Given the description of an element on the screen output the (x, y) to click on. 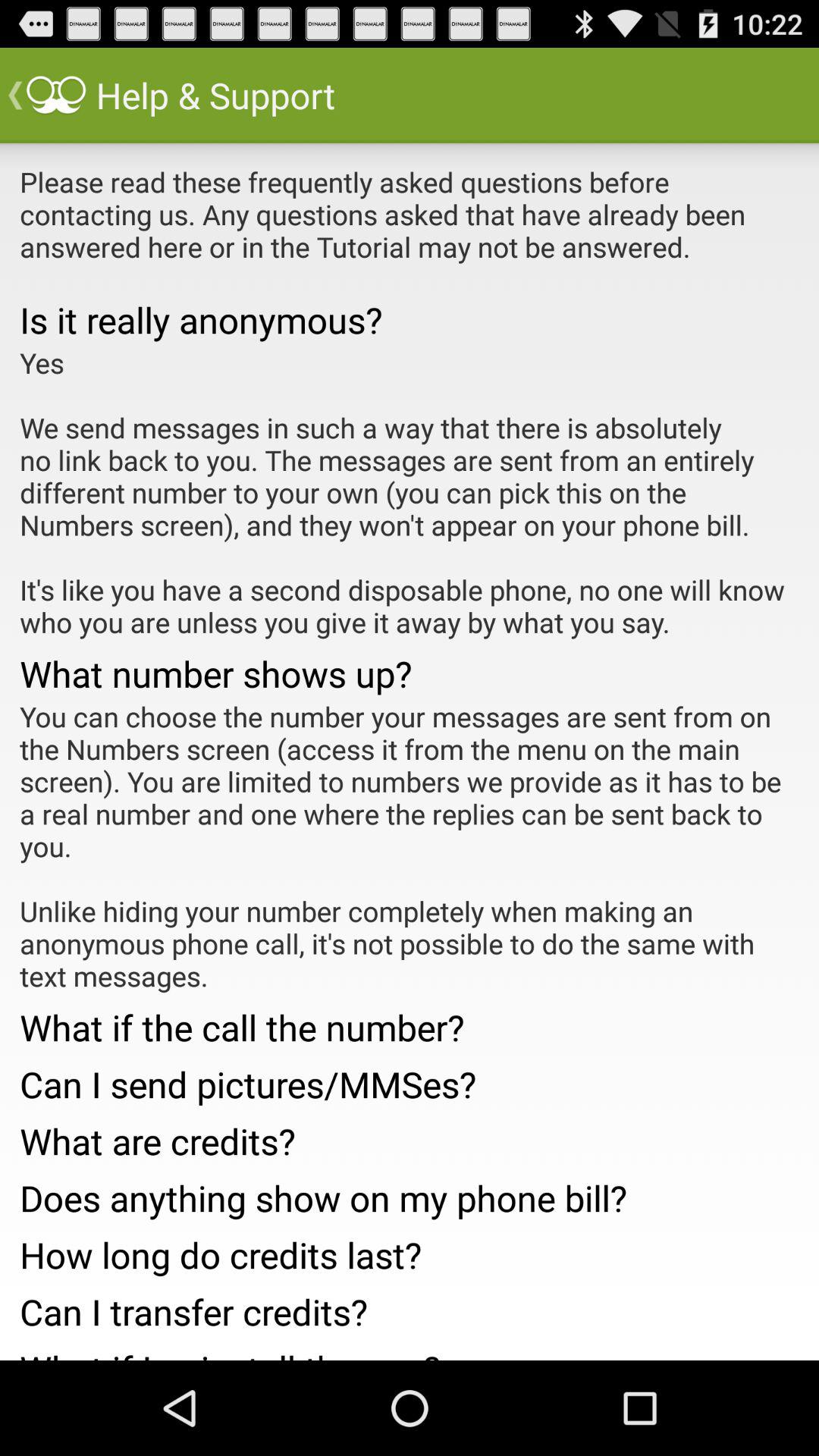
click icon below the does anything show (409, 1250)
